Given the description of an element on the screen output the (x, y) to click on. 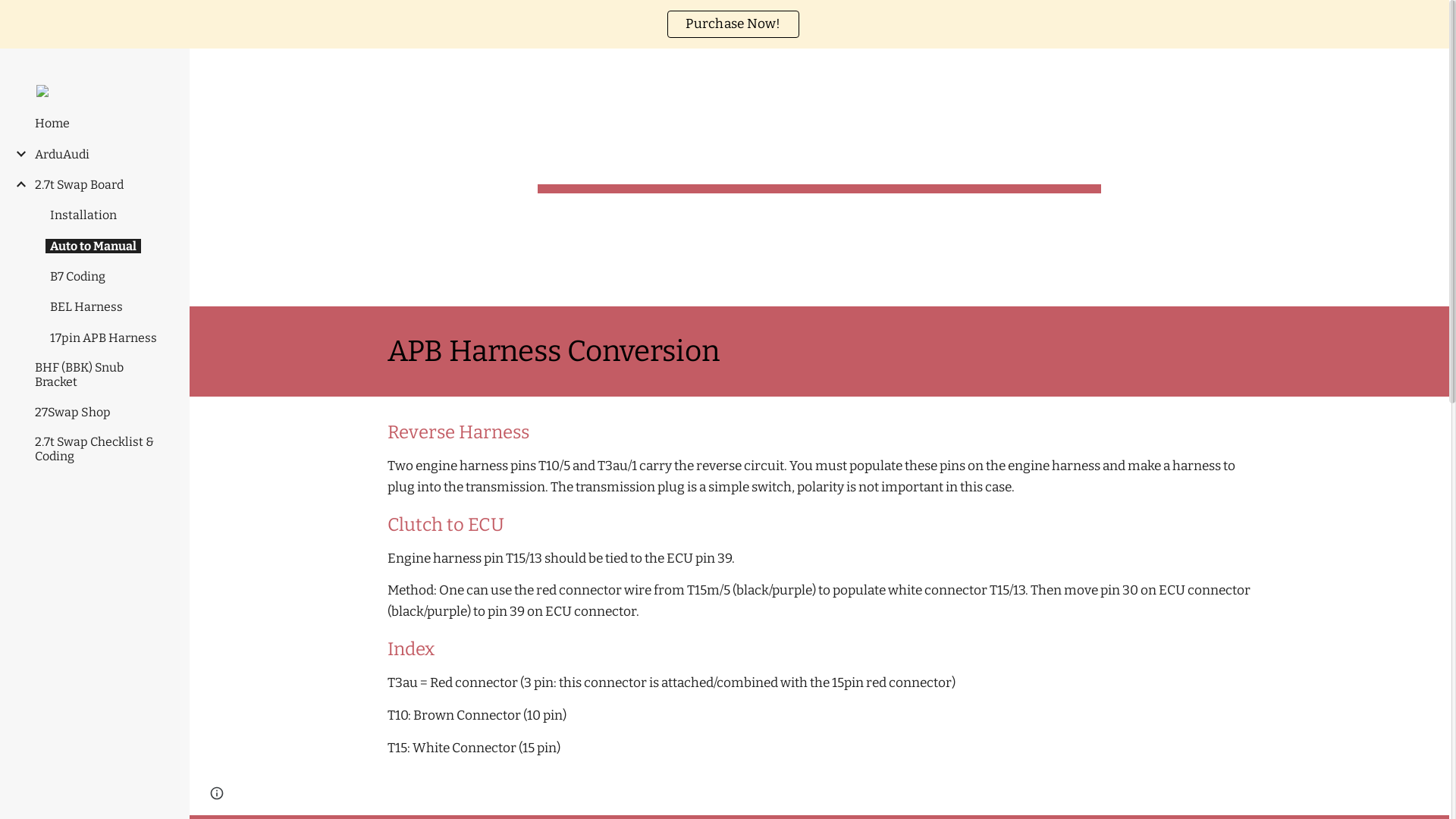
ArduAudi Element type: text (62, 154)
27Swap Shop Element type: text (72, 411)
2.7t Swap Board Element type: text (79, 184)
B7 Coding Element type: text (77, 276)
2.7t Swap Checklist & Coding Element type: text (101, 448)
Expand/Collapse Element type: hover (16, 153)
Auto to Manual Element type: text (93, 245)
Installation Element type: text (83, 214)
Purchase Now! Element type: text (732, 24)
Home Element type: text (52, 123)
BEL Harness Element type: text (86, 306)
17pin APB Harness Element type: text (103, 337)
BHF (BBK) Snub Bracket Element type: text (101, 374)
Expand/Collapse Element type: hover (16, 184)
